Given the description of an element on the screen output the (x, y) to click on. 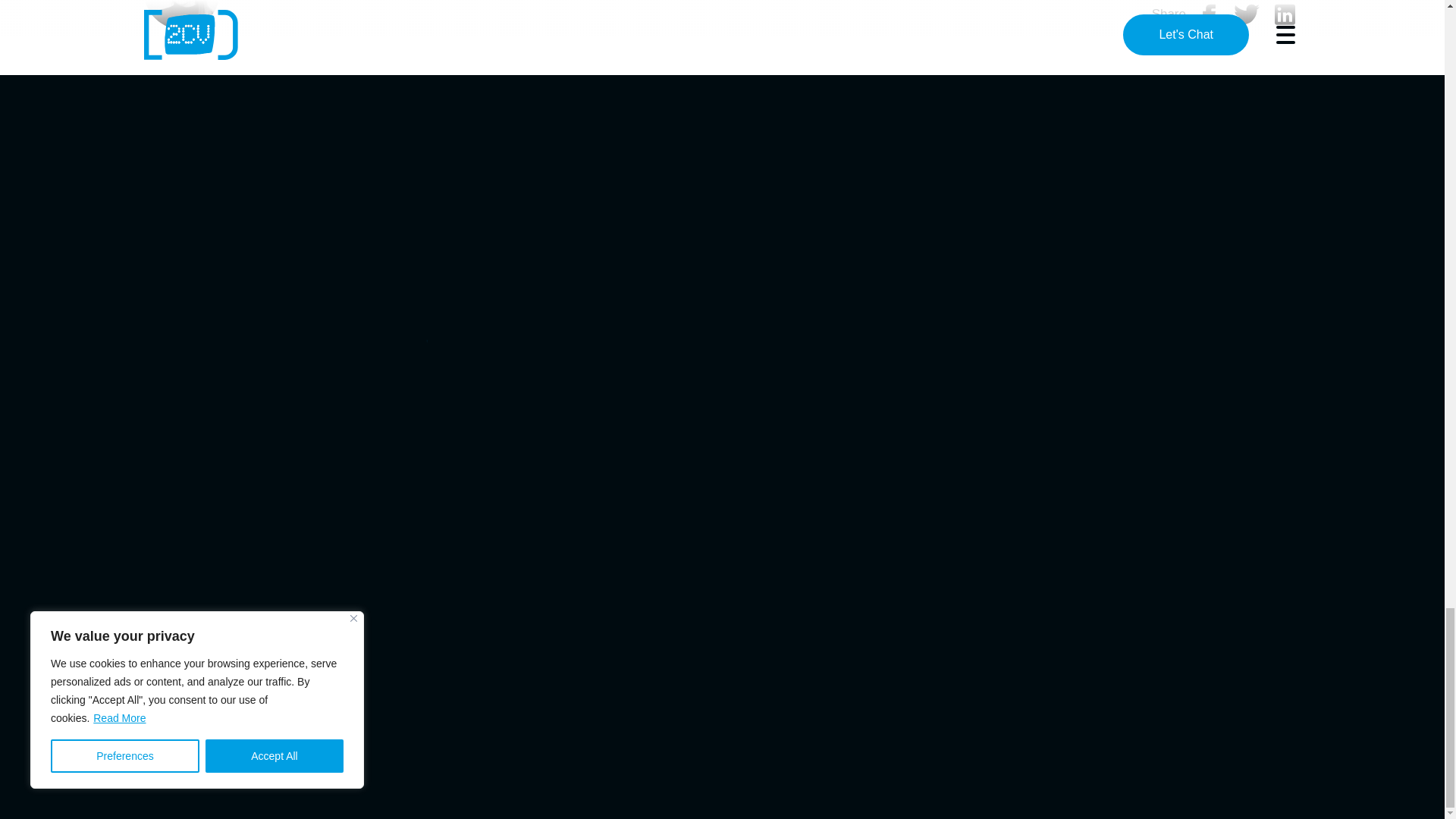
Facebook (1208, 14)
Linkedin (1284, 14)
Twitter (1246, 14)
